Given the description of an element on the screen output the (x, y) to click on. 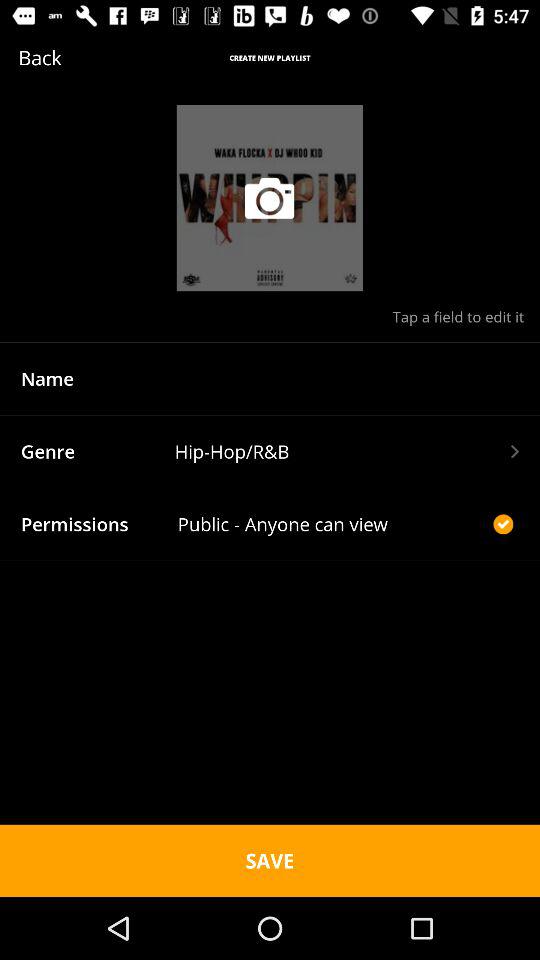
press icon next to the permissions icon (332, 524)
